Given the description of an element on the screen output the (x, y) to click on. 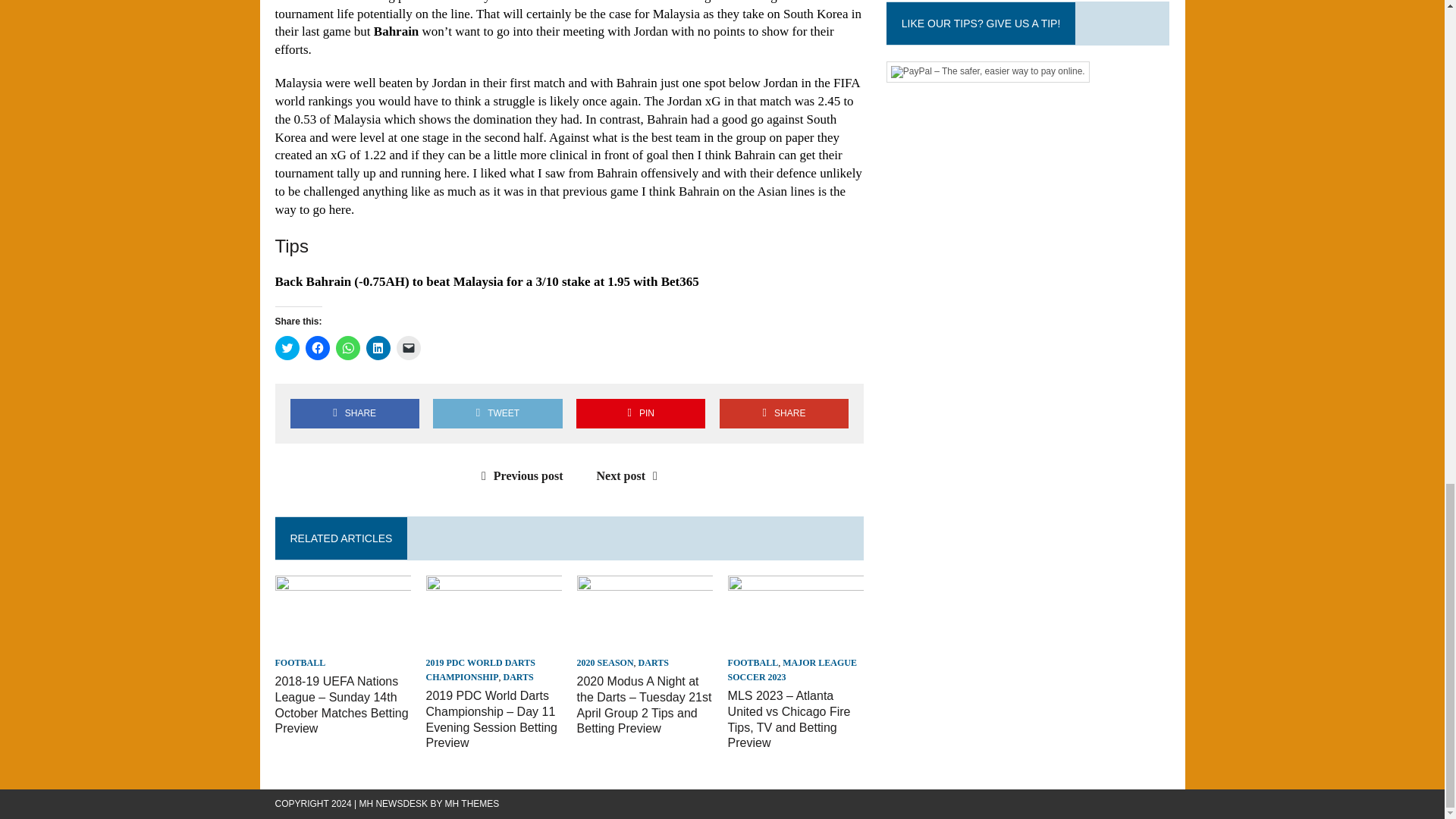
Click to share on Facebook (316, 347)
Click to share on Twitter (286, 347)
Click to email a link to a friend (408, 347)
Click to share on WhatsApp (346, 347)
Click to share on LinkedIn (377, 347)
